Given the description of an element on the screen output the (x, y) to click on. 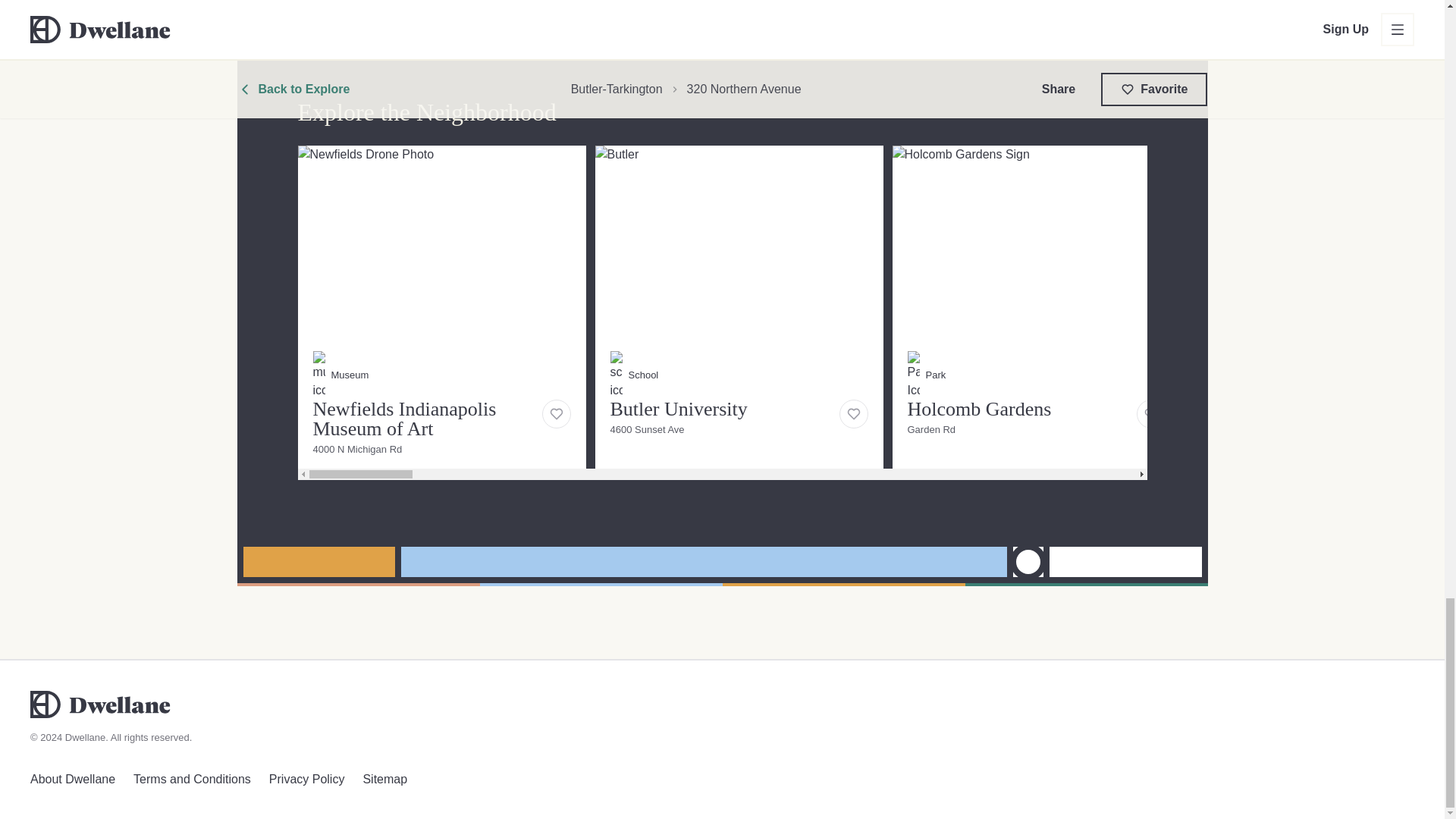
Unique Architecture (1035, 297)
Historic (517, 10)
